Given the description of an element on the screen output the (x, y) to click on. 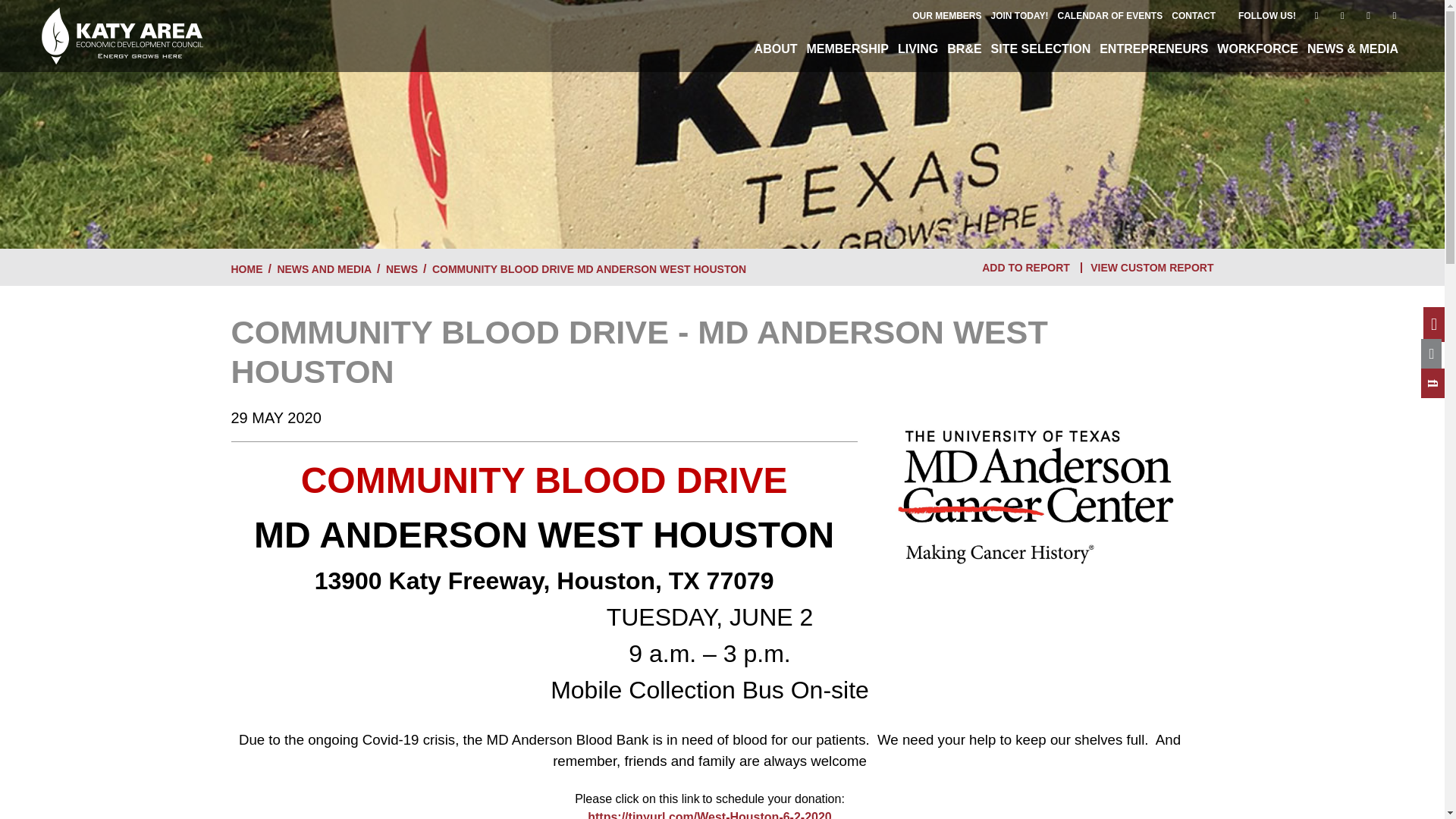
FACEBOOK (1342, 15)
ABOUT (775, 48)
MEMBERSHIP (847, 48)
CALENDAR OF EVENTS (1110, 15)
TWITTER (1367, 15)
CONTACT (1193, 15)
OUR MEMBERS (946, 15)
JOIN TODAY! (1019, 15)
YOUTUBE (1315, 15)
LINKEDIN (1394, 15)
